Given the description of an element on the screen output the (x, y) to click on. 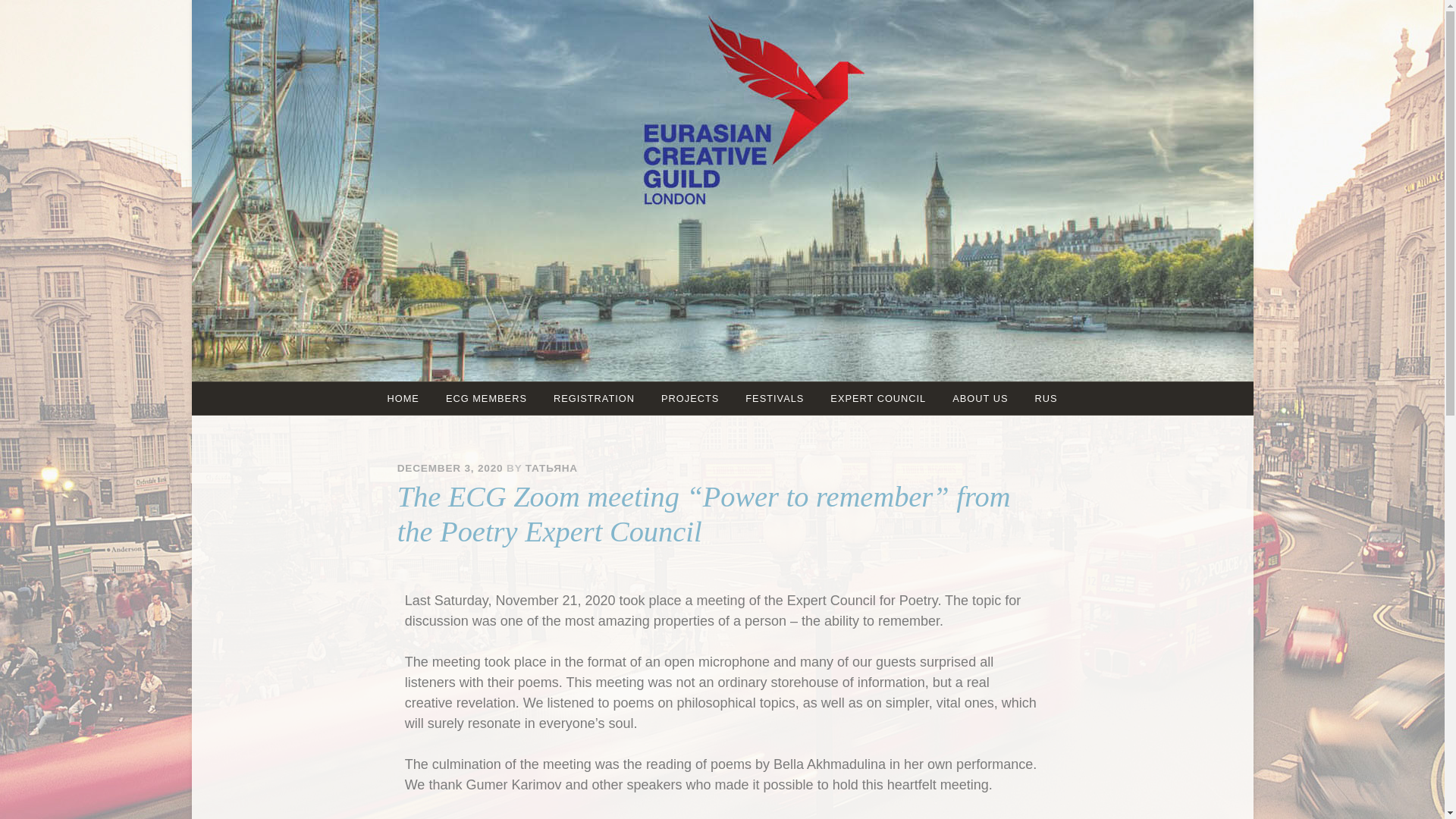
PROJECTS (689, 398)
EURASIAN CREATIVE GUILD (767, 210)
EURASIAN CREATIVE GUILD (767, 210)
ECG MEMBERS (485, 398)
REGISTRATION (593, 398)
HOME (402, 398)
FESTIVALS (774, 398)
